Given the description of an element on the screen output the (x, y) to click on. 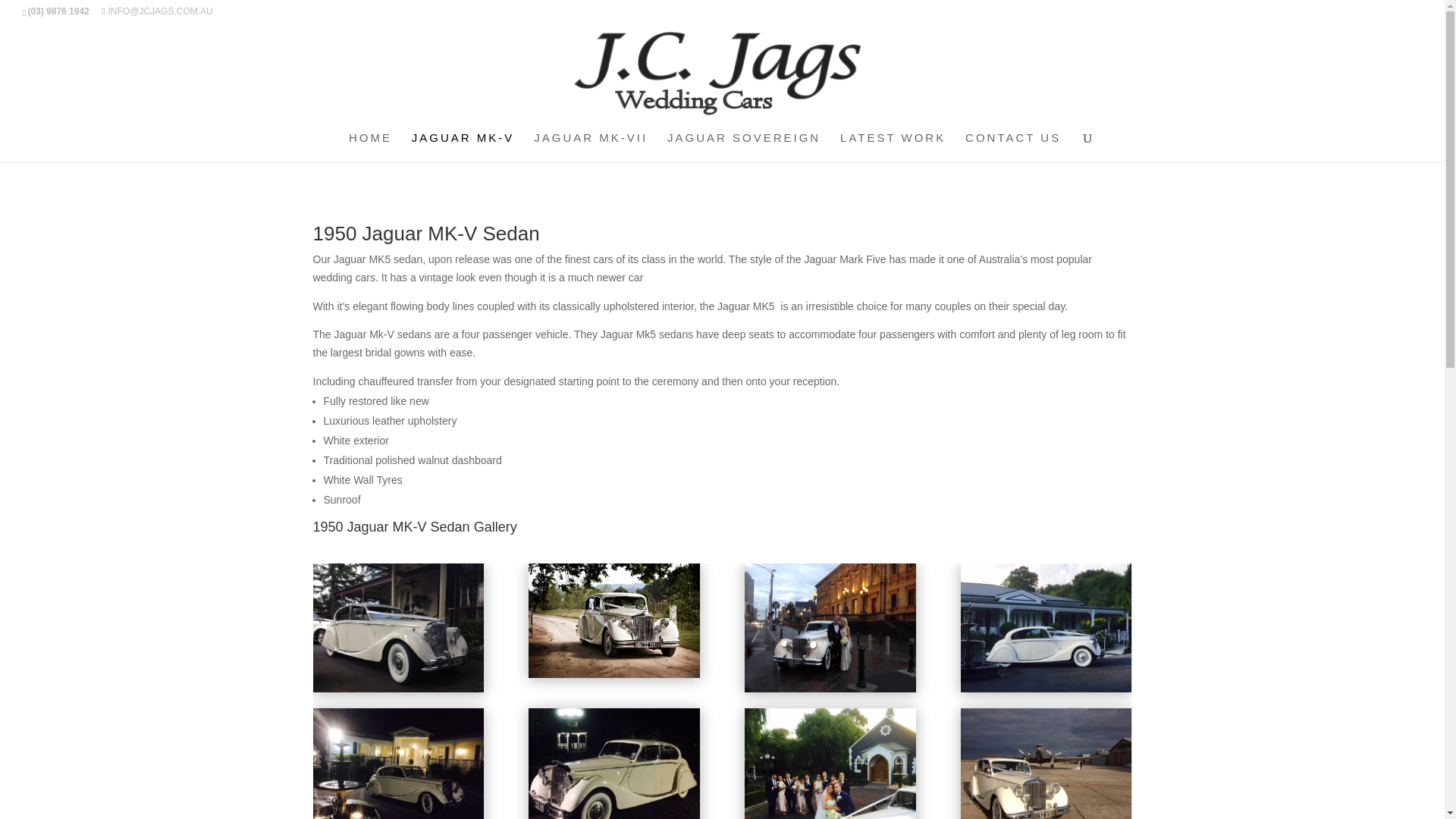
JAGUAR MK-VII (590, 147)
LATEST WORK (892, 147)
JAGUAR SOVEREIGN (743, 147)
Mark 5 Jaguar Wedding Car Hire (398, 688)
HOME (370, 147)
CONTACT US (1013, 147)
JAGUAR MK-V (463, 147)
